Given the description of an element on the screen output the (x, y) to click on. 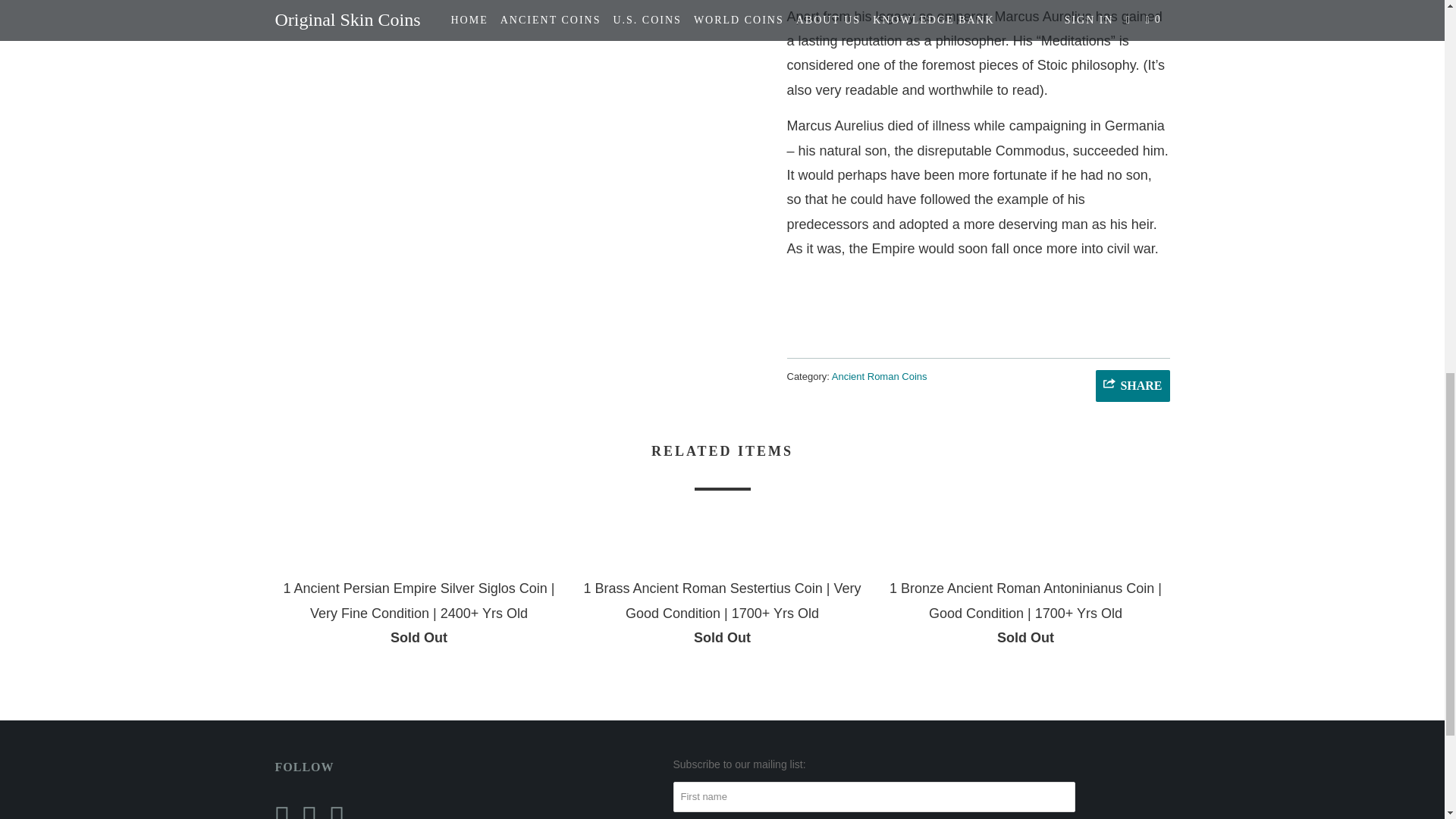
Products tagged Ancient Roman Coins (879, 376)
